Given the description of an element on the screen output the (x, y) to click on. 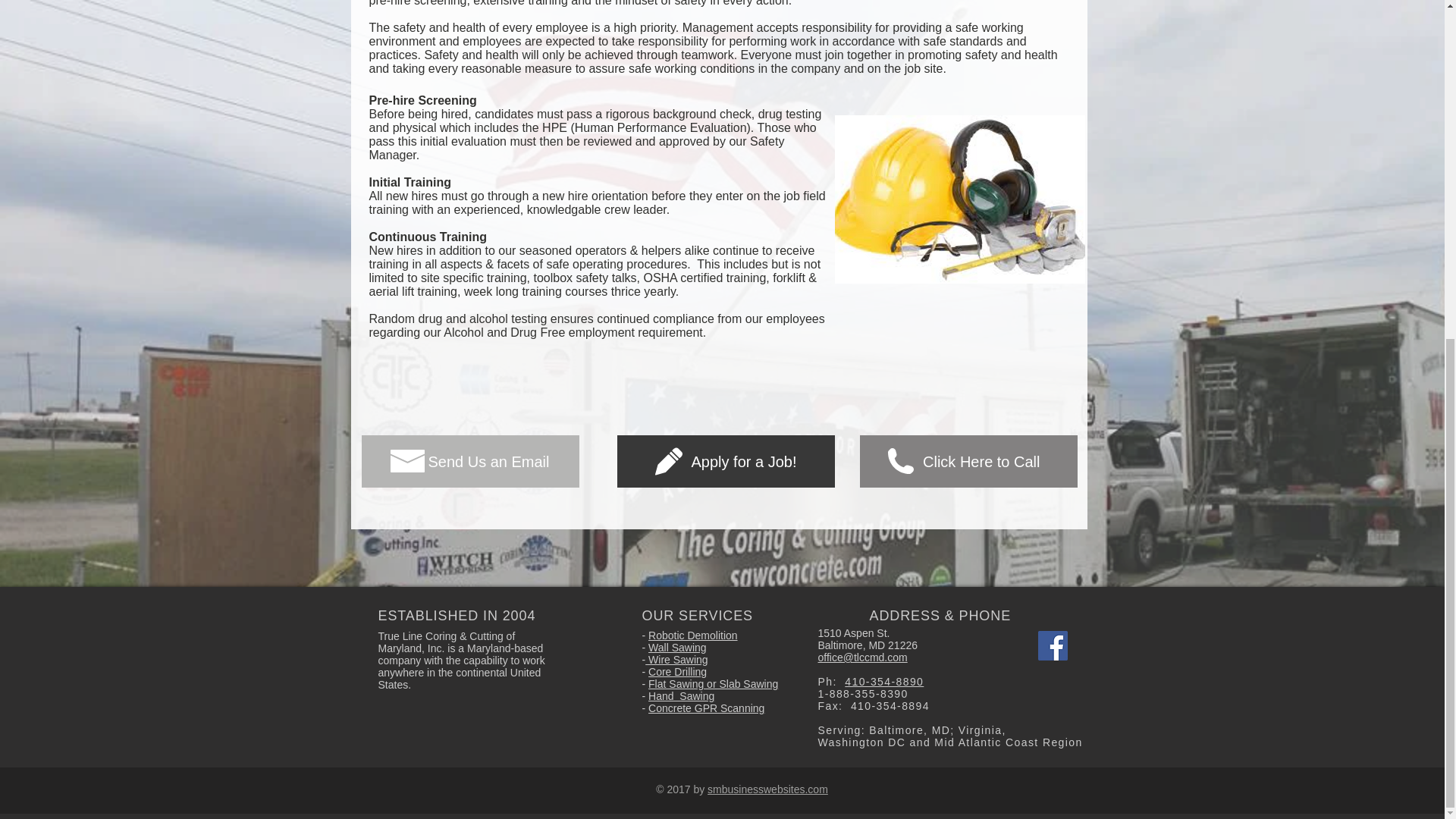
Robotic Demolition (692, 635)
Send Us an Email (469, 460)
Click Here to Call (968, 460)
410-354-8890 (883, 681)
Core Drilling (676, 671)
Wire Sawing (676, 659)
Flat Sawing or Slab Sawing (712, 684)
Apply for a Job! (725, 460)
Wall Sawing (676, 647)
smbusinesswebsites.com (767, 788)
Hand  Sawing (680, 695)
